Given the description of an element on the screen output the (x, y) to click on. 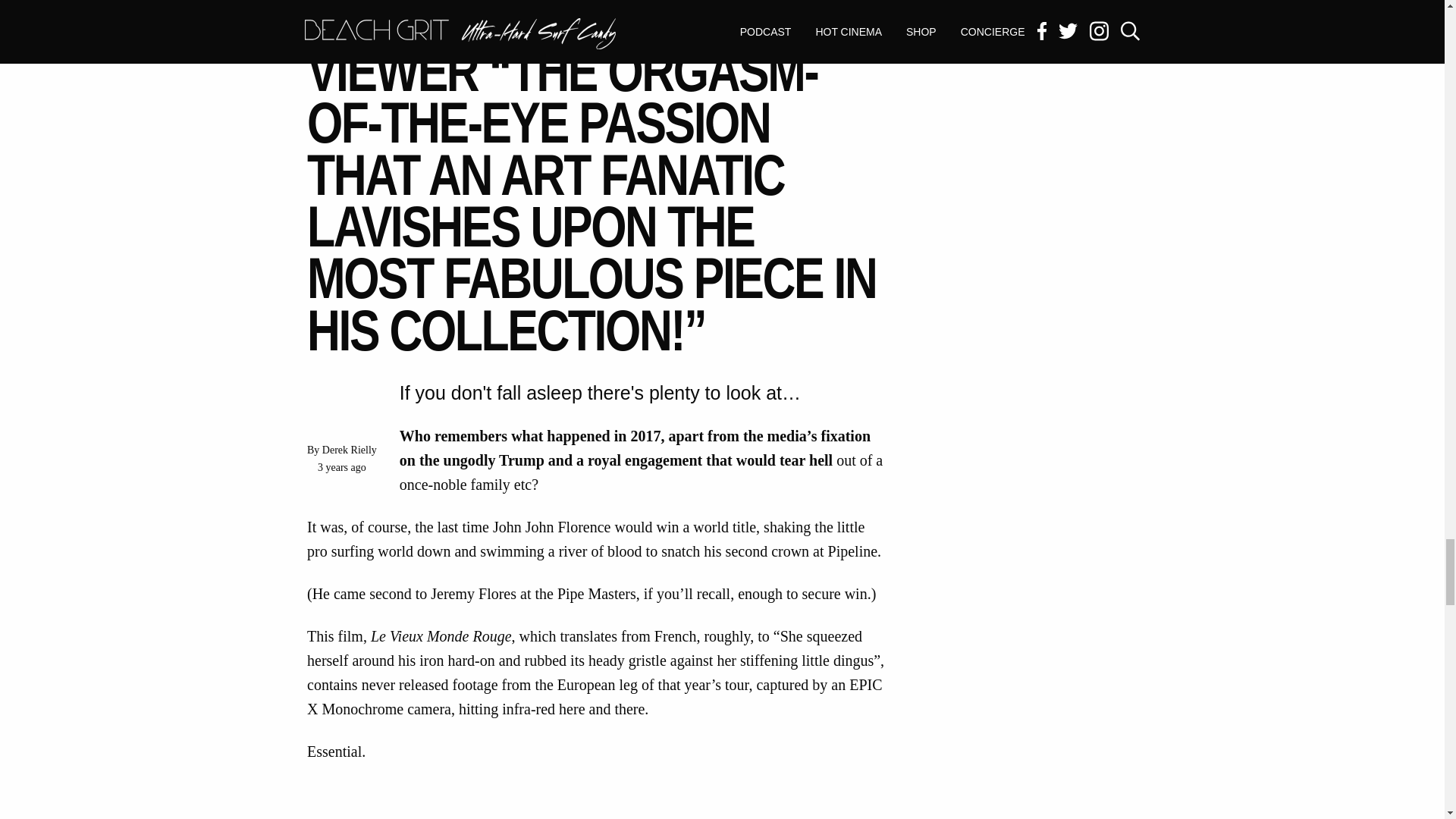
Derek Rielly (349, 449)
